Given the description of an element on the screen output the (x, y) to click on. 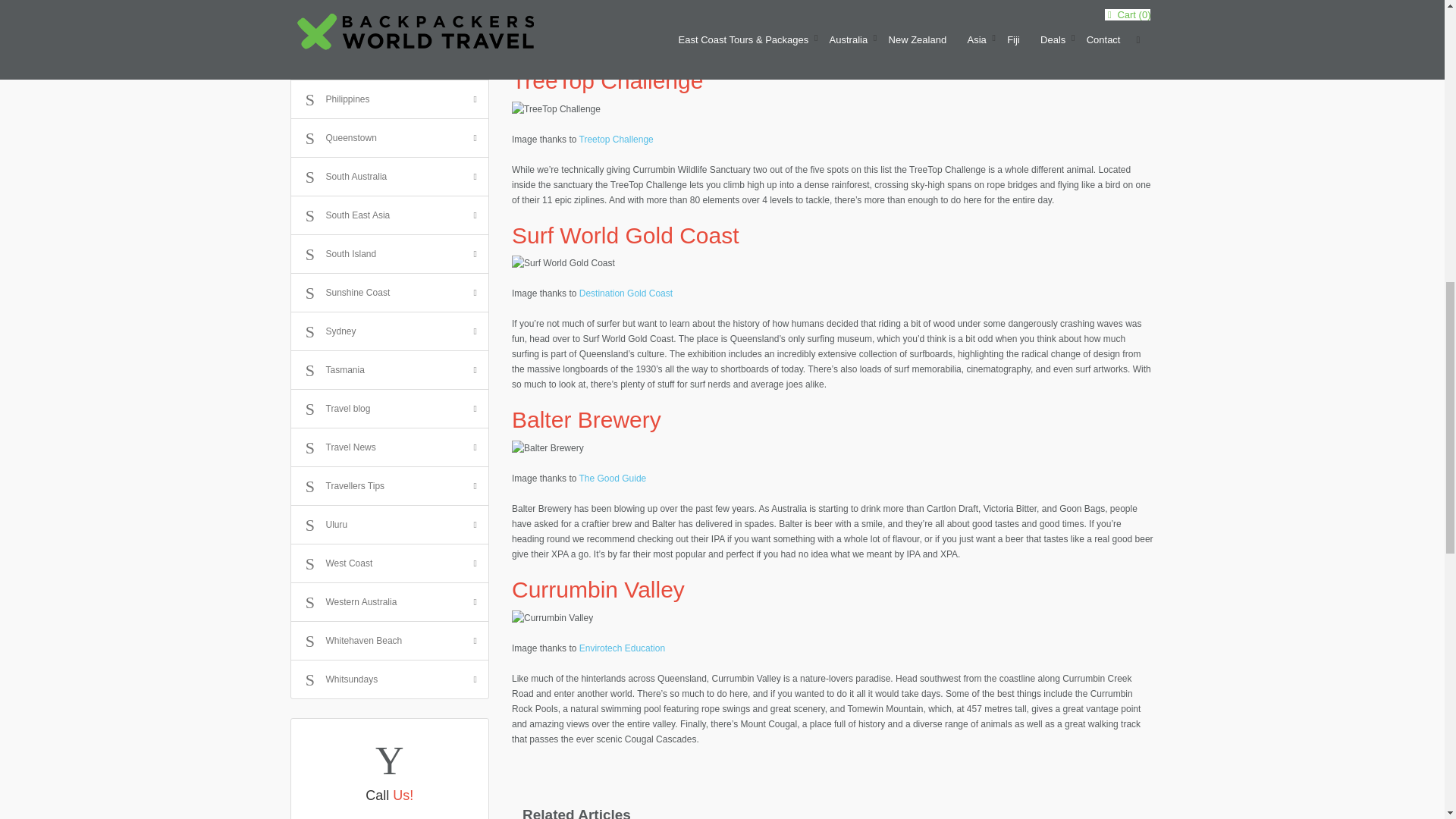
trevor mckinnon GDd1ABE3KuA unsplash (753, 762)
TreeTop Challenge (555, 109)
Currumbin Valley (552, 617)
Surf World Gold Coast (563, 263)
leio mclaren leiomclaren ImhjEeh7pZg unsplash (591, 762)
Balter Brewery (547, 447)
